Given the description of an element on the screen output the (x, y) to click on. 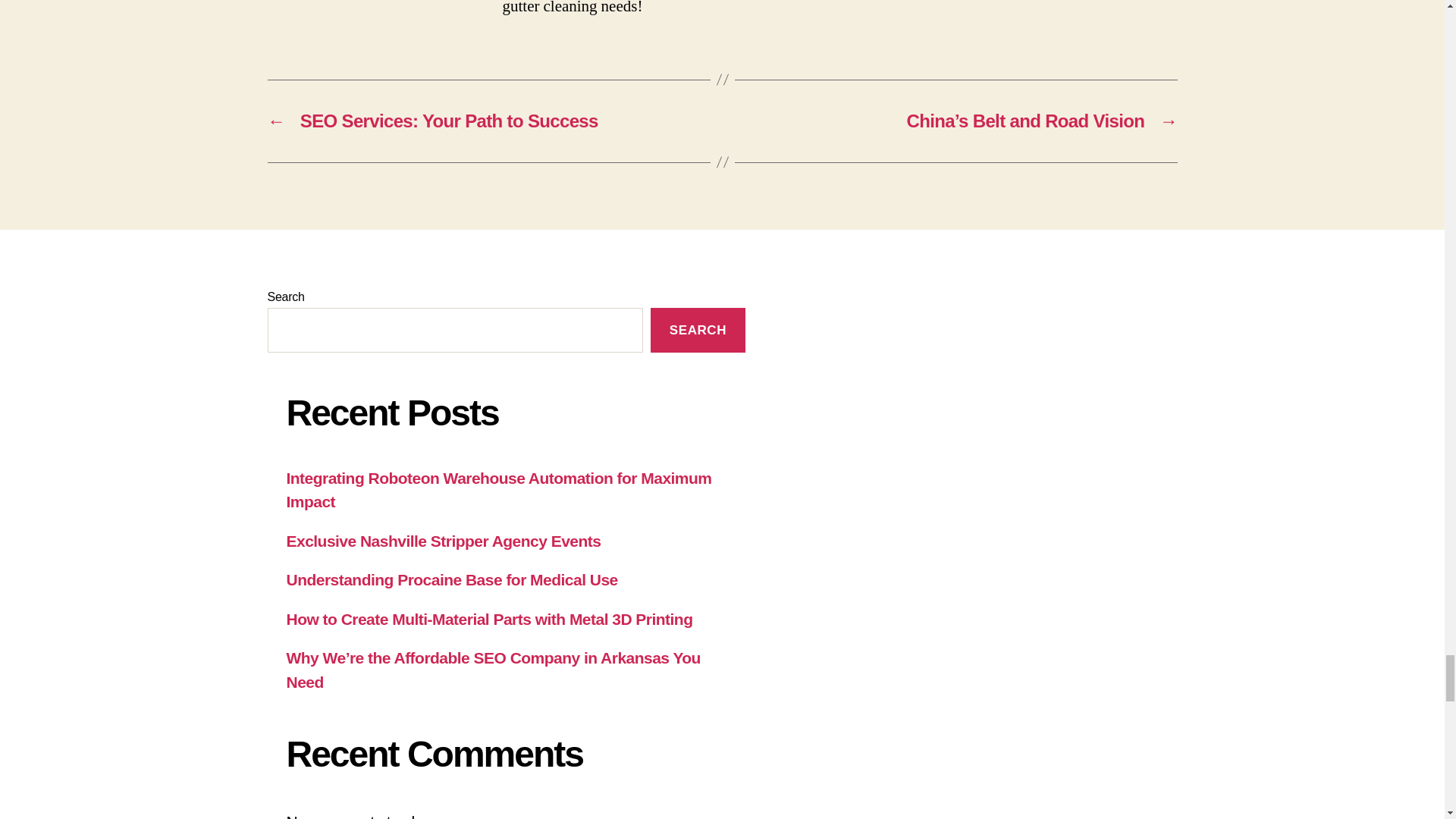
SEARCH (697, 329)
How to Create Multi-Material Parts with Metal 3D Printing (489, 619)
Exclusive Nashville Stripper Agency Events (443, 540)
Integrating Roboteon Warehouse Automation for Maximum Impact (498, 490)
Understanding Procaine Base for Medical Use (451, 579)
